Given the description of an element on the screen output the (x, y) to click on. 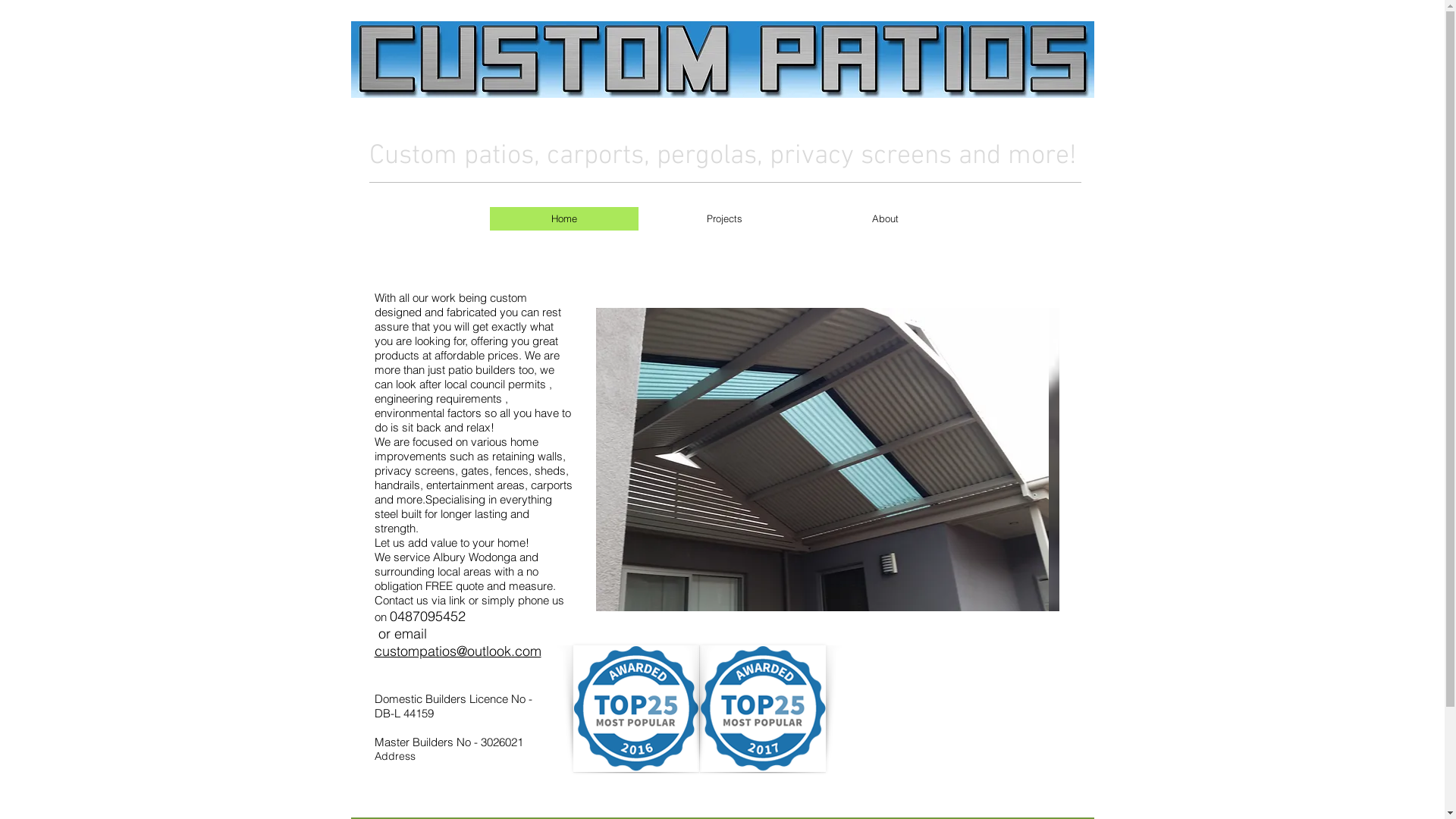
About Element type: text (885, 218)
Home Element type: text (563, 218)
Shirts.jpg Element type: hover (721, 59)
Projects Element type: text (724, 218)
custompatios@outlook.com Element type: text (457, 651)
